Given the description of an element on the screen output the (x, y) to click on. 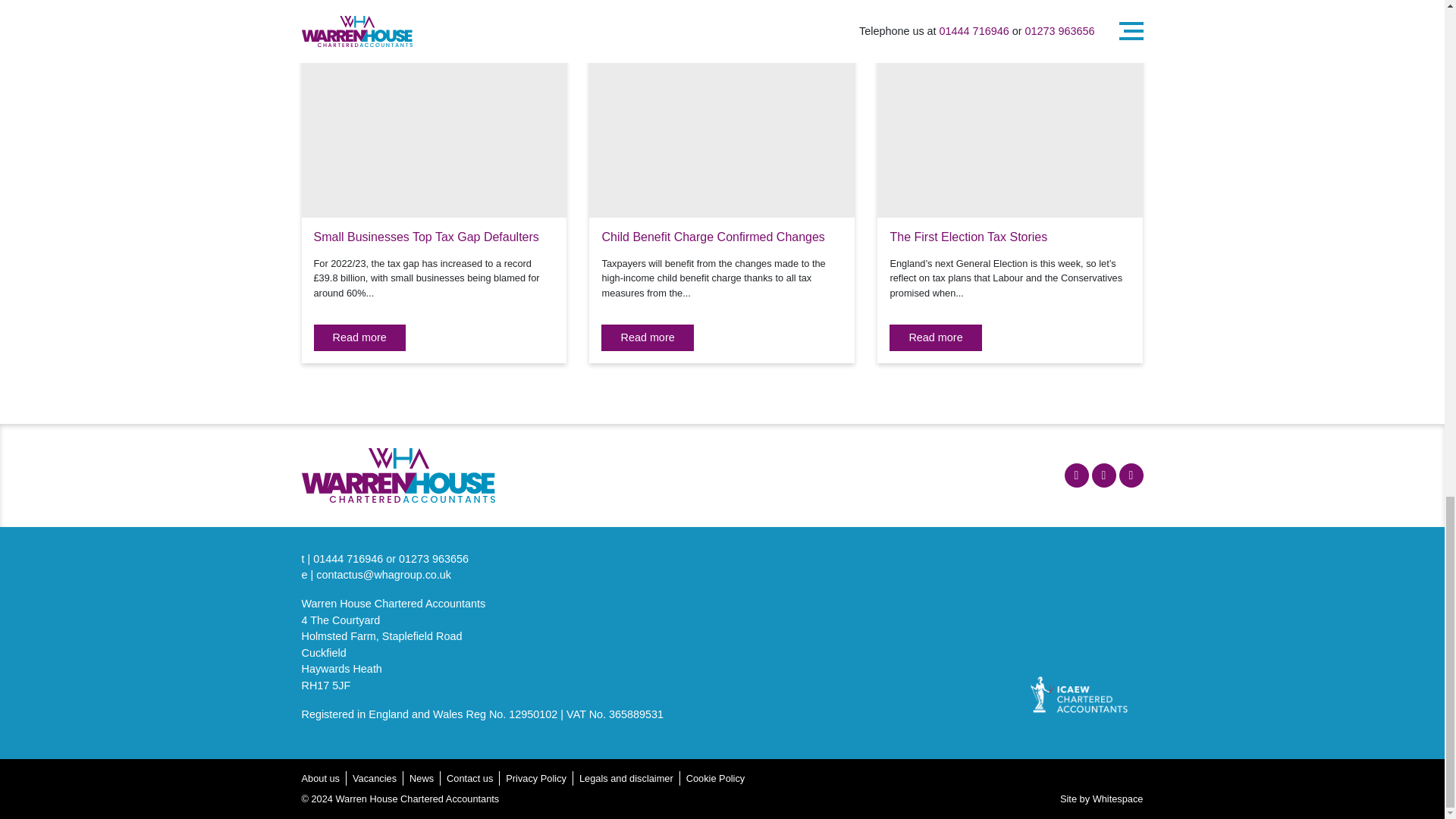
Contact us (469, 778)
About us (320, 778)
The First Election Tax Stories (967, 236)
Vacancies (374, 778)
Read more (935, 338)
Child Benefit Charge Confirmed Changes (712, 236)
News (421, 778)
Read more (647, 338)
Read more (360, 338)
01273 963656 (433, 558)
